Given the description of an element on the screen output the (x, y) to click on. 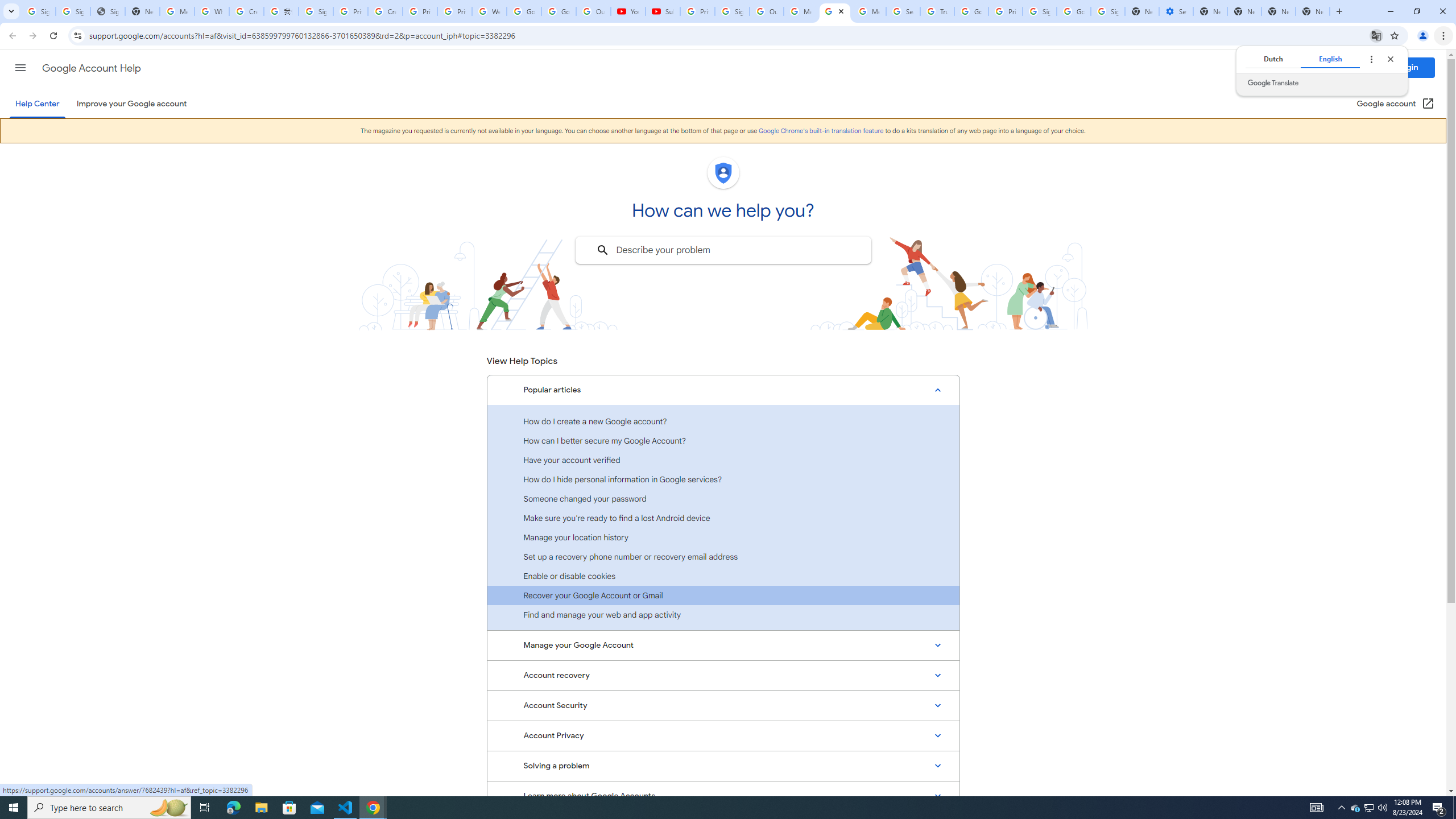
Sign in - Google Accounts (315, 11)
Settings - Performance (1176, 11)
Create your Google Account (246, 11)
Google Account Help (834, 11)
Google Account (557, 11)
Google Account Help (91, 68)
Account Security (722, 705)
Have your account verified (722, 460)
YouTube (627, 11)
